Given the description of an element on the screen output the (x, y) to click on. 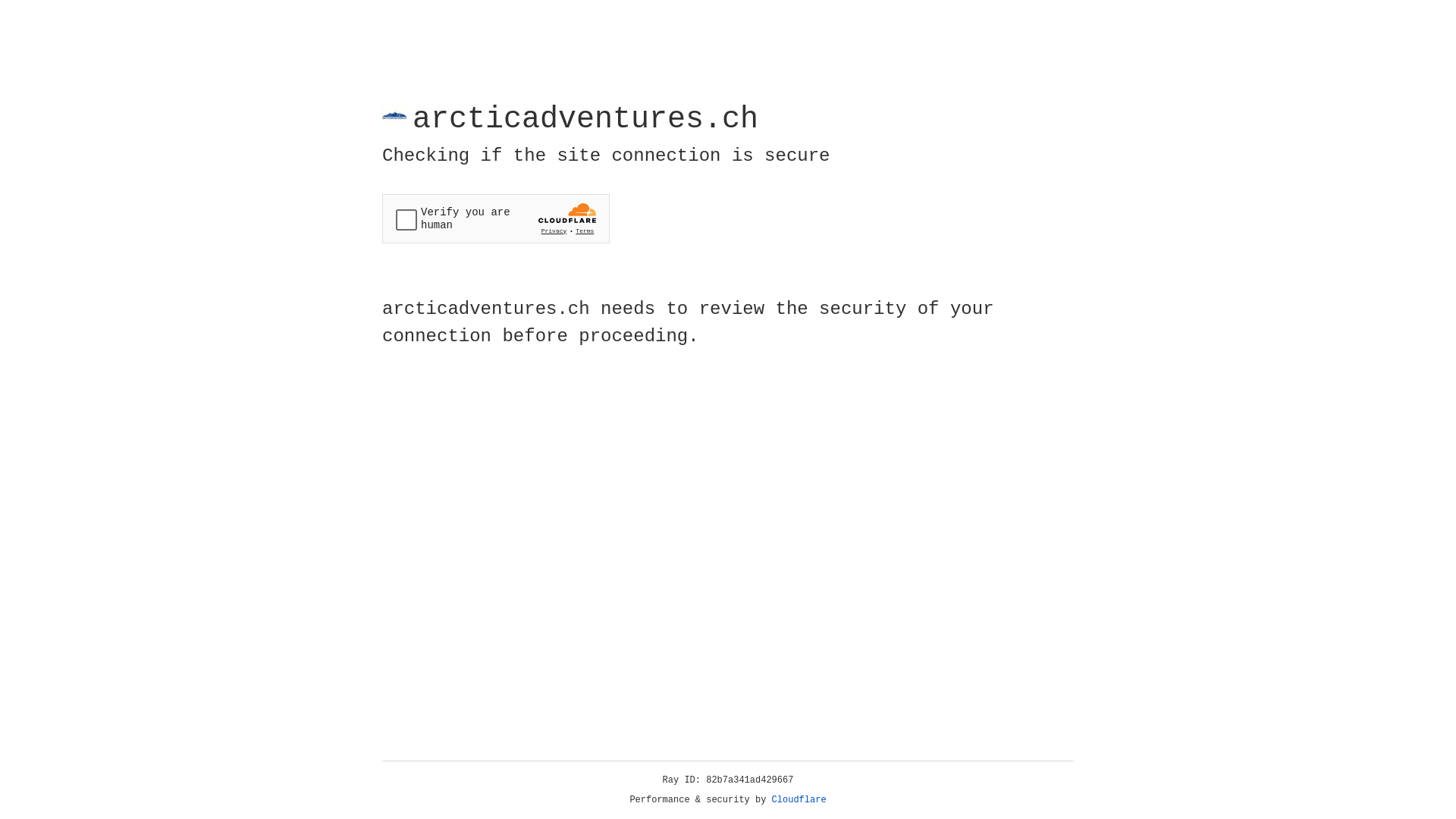
Cloudflare Element type: text (798, 799)
Widget containing a Cloudflare security challenge Element type: hover (495, 218)
